Given the description of an element on the screen output the (x, y) to click on. 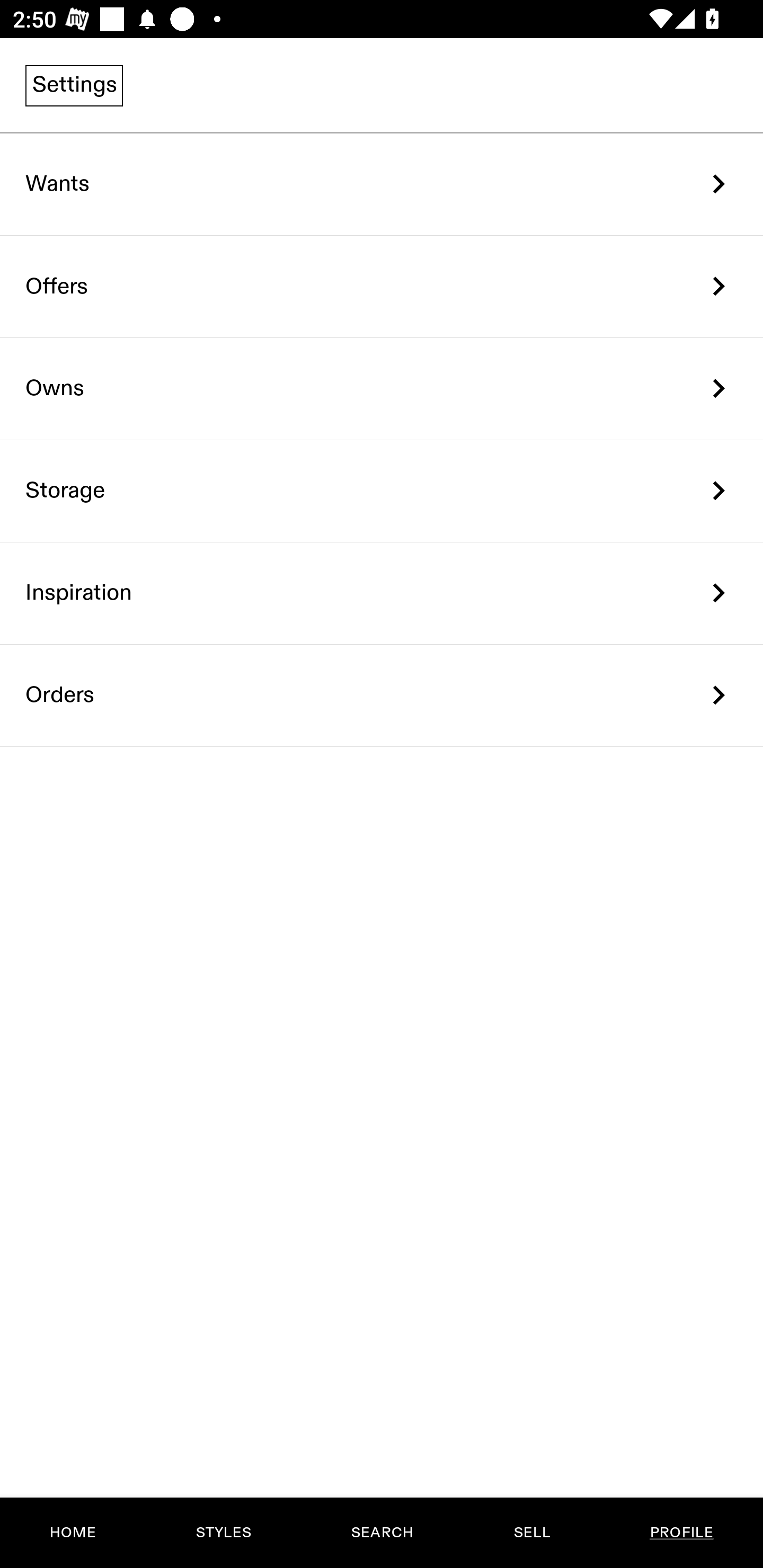
Settings (73, 85)
Wants (381, 184)
Offers (381, 286)
Owns (381, 388)
Storage (381, 491)
Inspiration (381, 593)
Orders (381, 695)
HOME (72, 1532)
STYLES (222, 1532)
SEARCH (381, 1532)
SELL (531, 1532)
PROFILE (681, 1532)
